Given the description of an element on the screen output the (x, y) to click on. 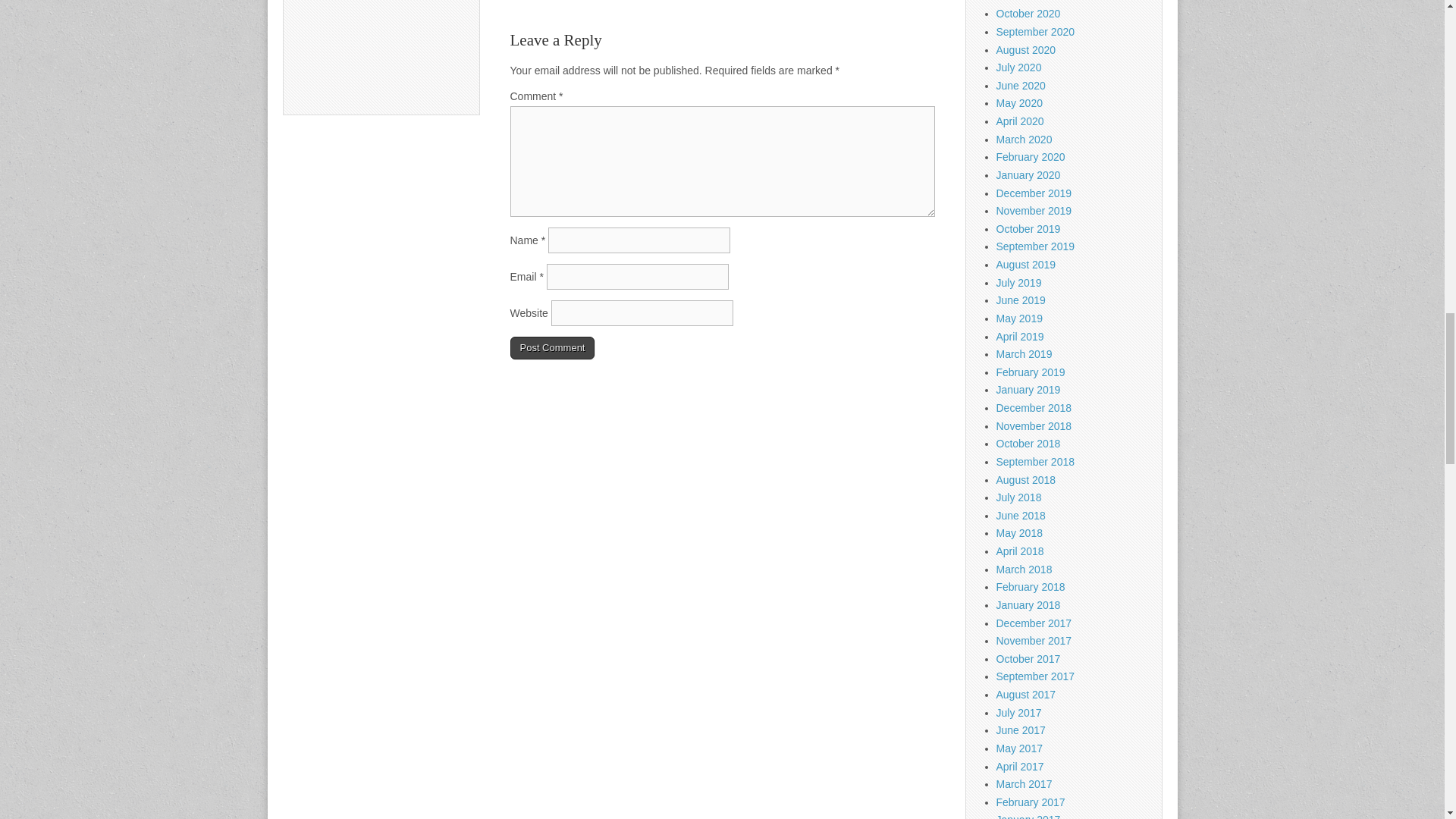
Post Comment (551, 347)
Post Comment (551, 347)
